Given the description of an element on the screen output the (x, y) to click on. 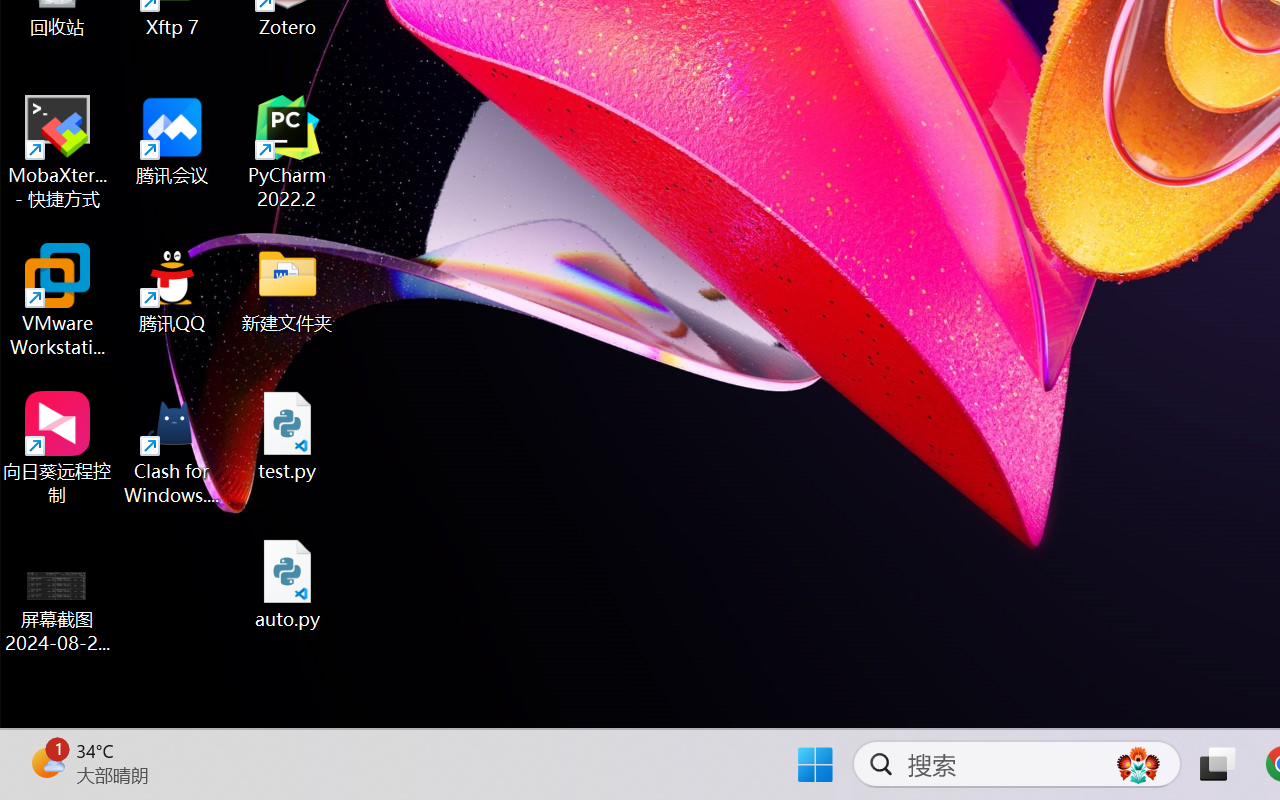
auto.py (287, 584)
